Given the description of an element on the screen output the (x, y) to click on. 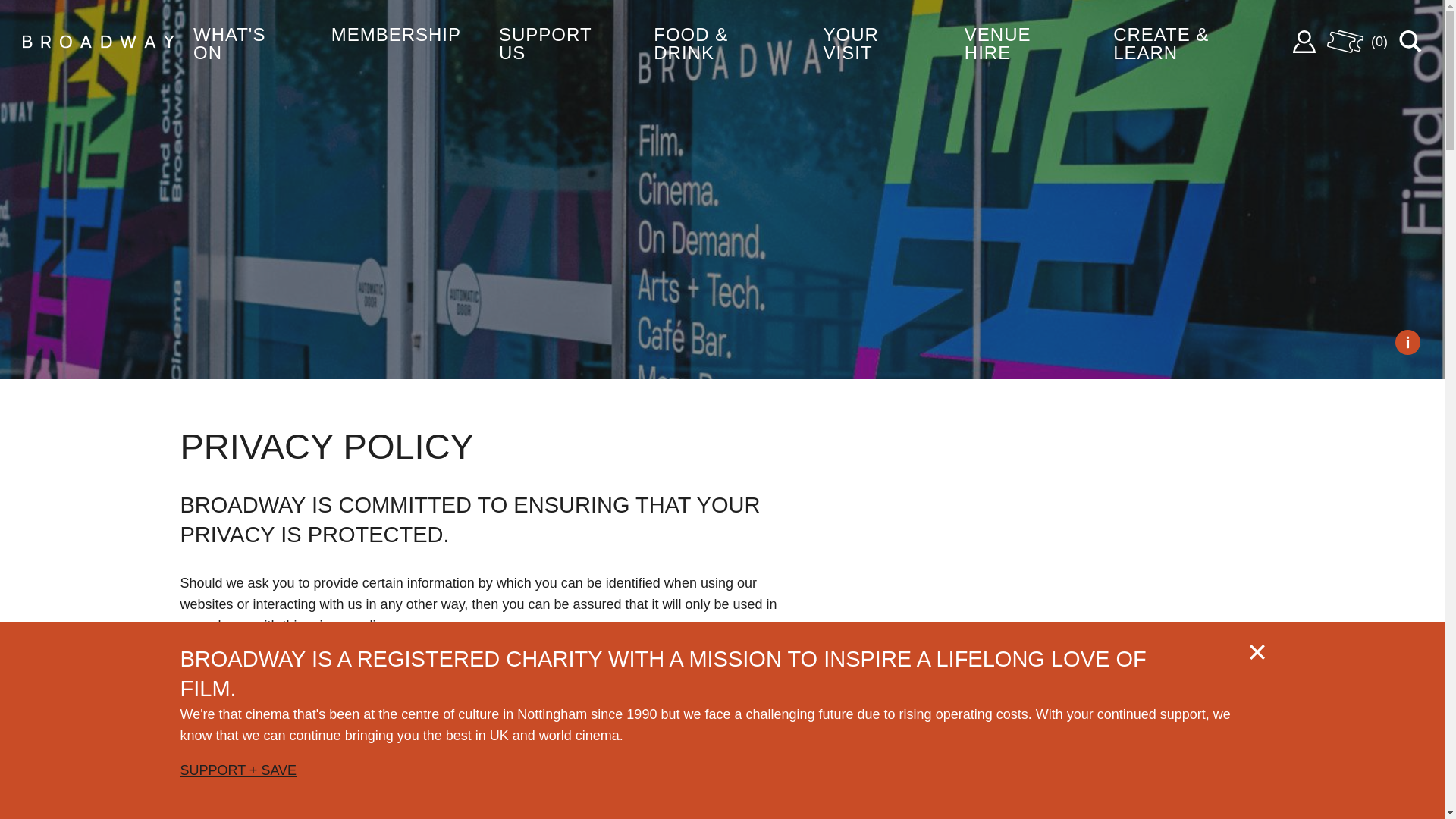
WHAT'S ON (243, 41)
VENUE HIRE (1019, 41)
Sign in (1304, 41)
Basket (1356, 41)
MEMBERSHIP (395, 32)
Image credit (1407, 341)
Image credit (1407, 341)
SUPPORT US (557, 41)
YOUR VISIT (874, 41)
Open search (1410, 41)
Home (98, 41)
